Given the description of an element on the screen output the (x, y) to click on. 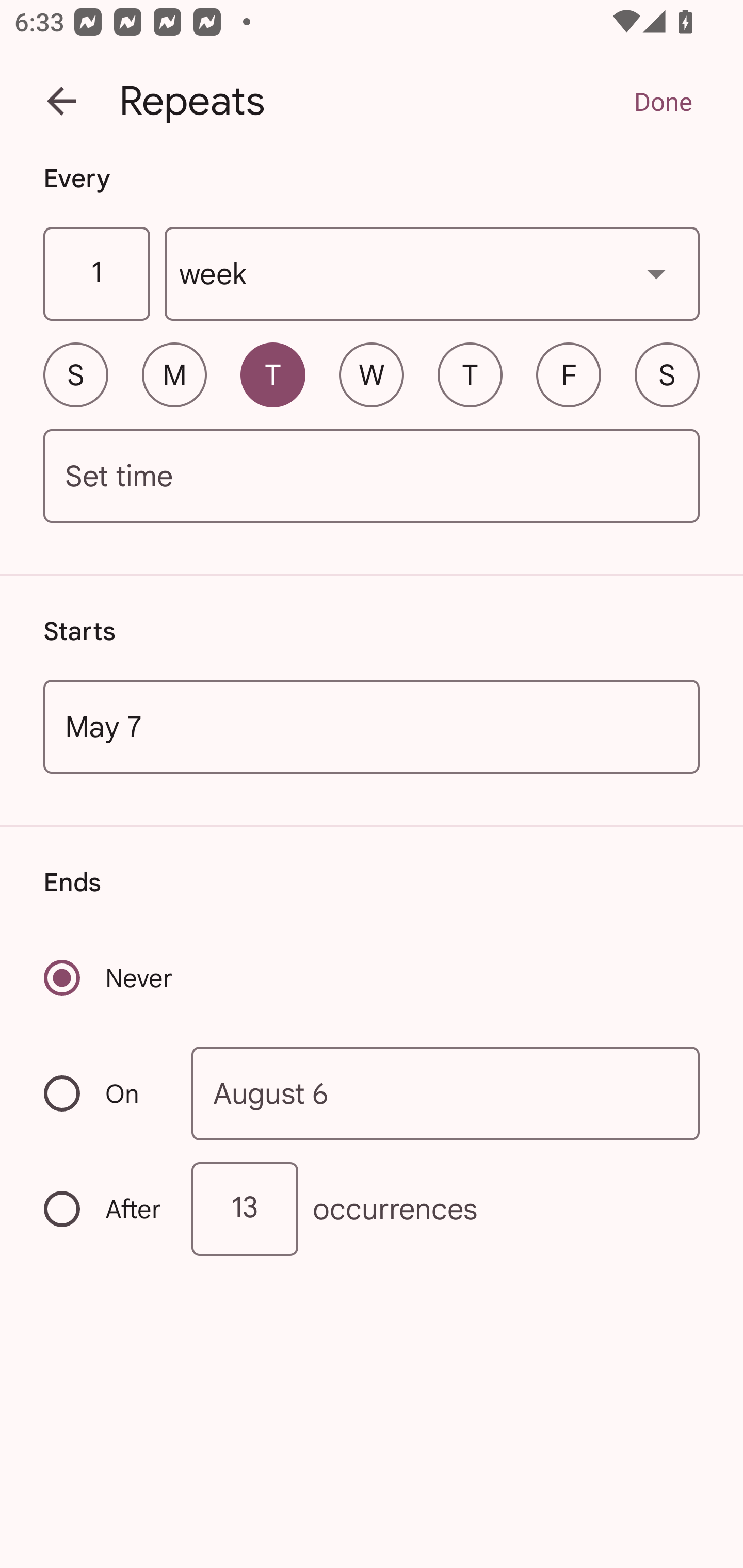
Back (61, 101)
Done (663, 101)
1 (96, 274)
week (431, 274)
Show dropdown menu (655, 273)
S Sunday (75, 374)
M Monday (173, 374)
T Tuesday, selected (272, 374)
W Wednesday (371, 374)
T Thursday (469, 374)
F Friday (568, 374)
S Saturday (666, 374)
Set time (371, 476)
May 7 (371, 726)
Never Recurrence never ends (109, 978)
August 6 (445, 1092)
On Recurrence ends on a specific date (104, 1093)
13 (244, 1208)
